Given the description of an element on the screen output the (x, y) to click on. 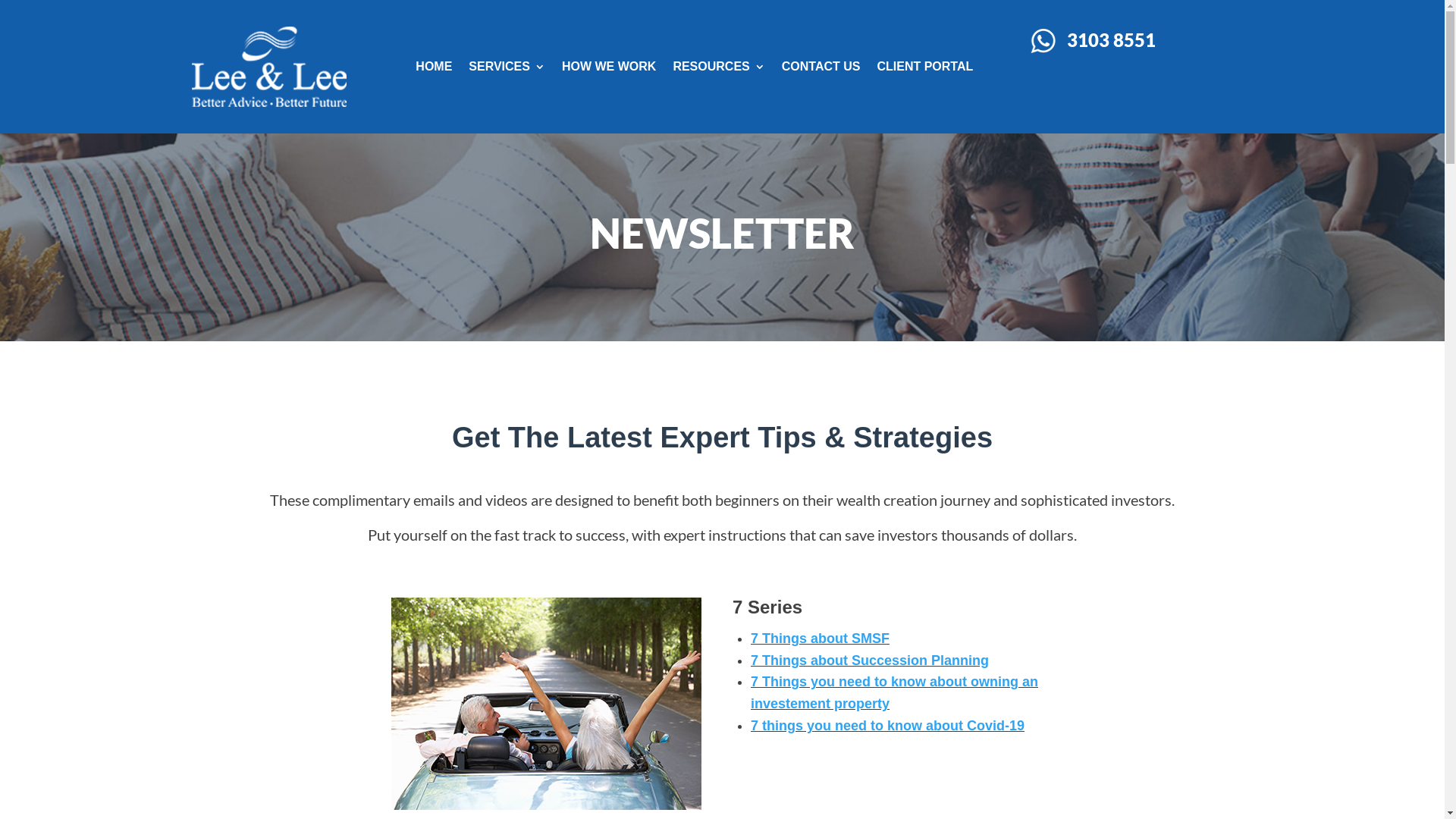
HOW WE WORK Element type: text (608, 66)
7-series Element type: hover (546, 703)
SERVICES Element type: text (506, 66)
HOME Element type: text (433, 66)
CONTACT US Element type: text (820, 66)
7 things you need to know about Covid-19 Element type: text (887, 725)
CLIENT PORTAL Element type: text (924, 66)
7 Things about Succession Planning Element type: text (869, 660)
RESOURCES Element type: text (718, 66)
7 Things about SMSF Element type: text (819, 638)
